Given the description of an element on the screen output the (x, y) to click on. 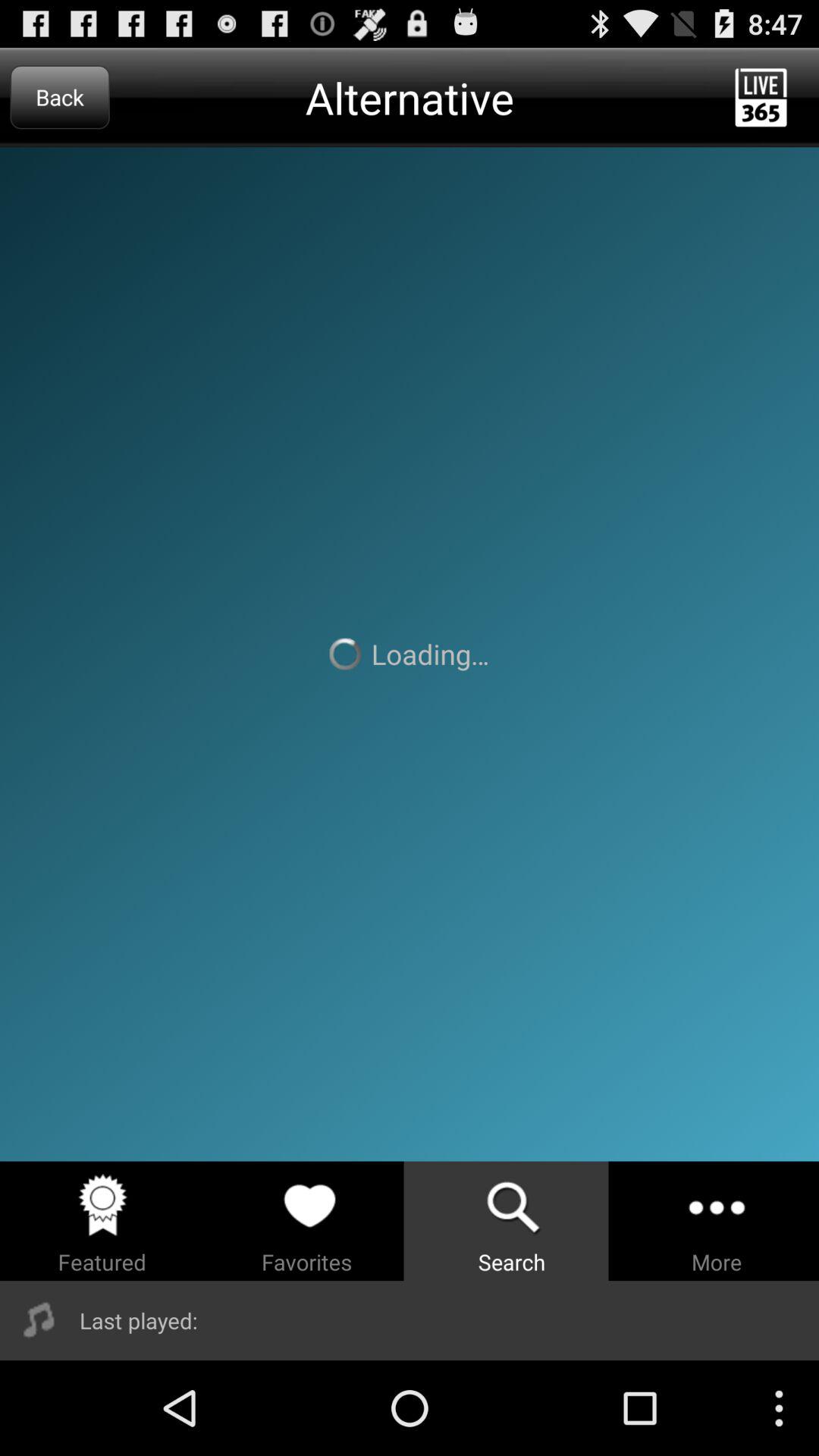
turn off the item to the left of alternative (59, 97)
